Given the description of an element on the screen output the (x, y) to click on. 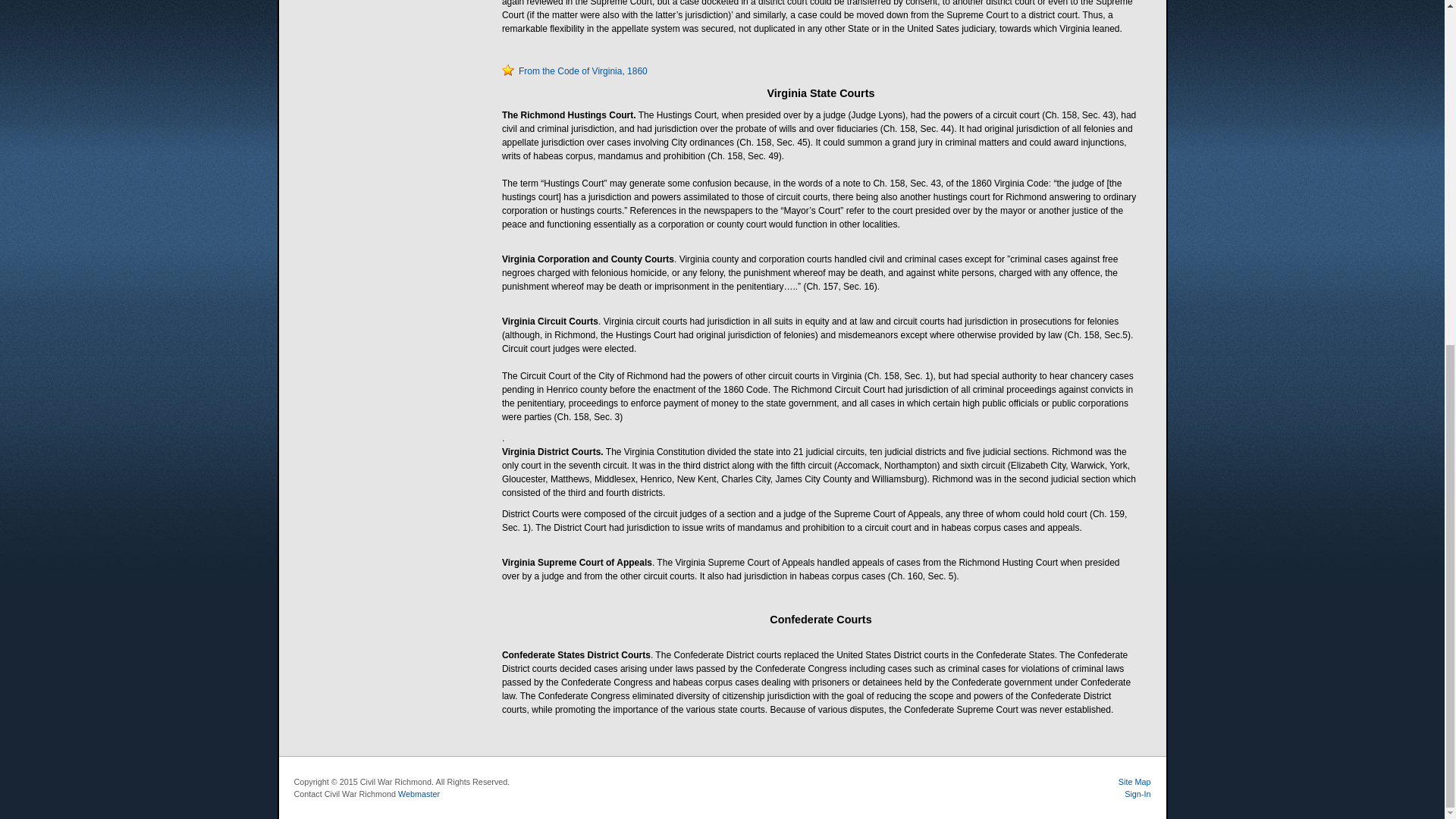
Webmaster (418, 793)
Code of Virginia, 1860 (602, 71)
From the  (529, 70)
Site Map (1134, 781)
Sign-In (1137, 793)
